Given the description of an element on the screen output the (x, y) to click on. 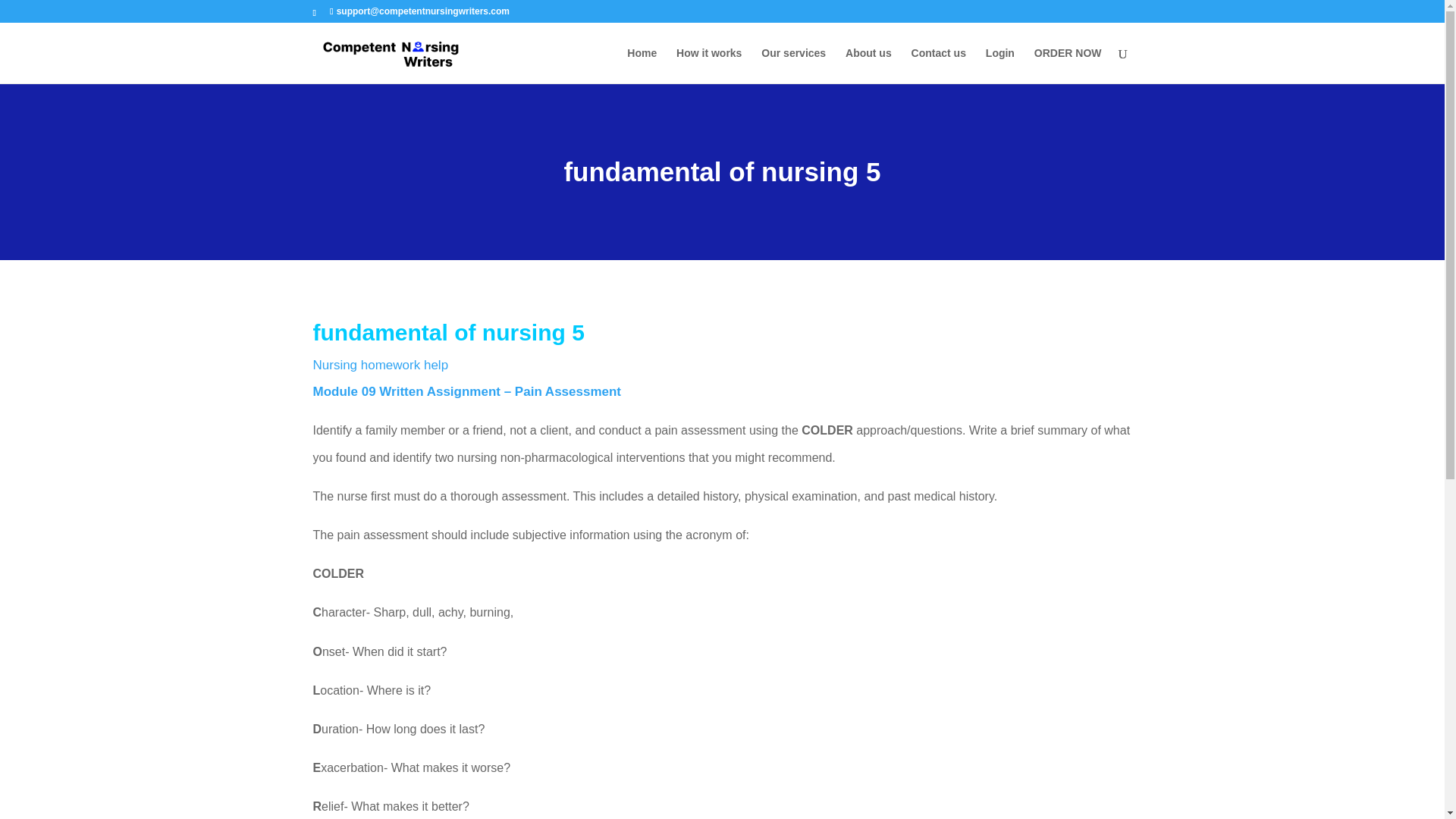
Our services (793, 65)
How it works (709, 65)
About us (868, 65)
Contact us (938, 65)
Nursing homework help (380, 364)
ORDER NOW (1067, 65)
